Given the description of an element on the screen output the (x, y) to click on. 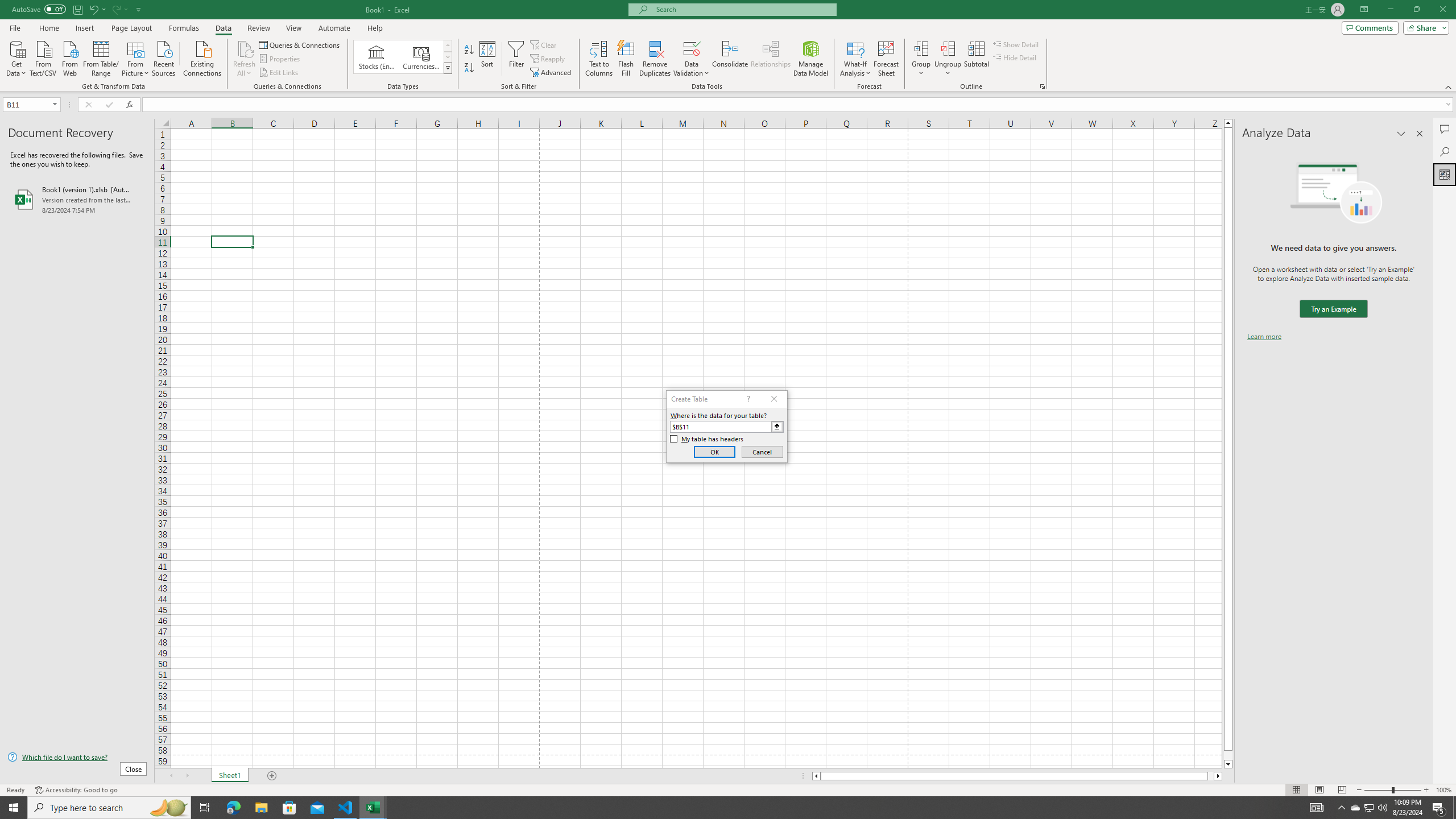
Reapply (548, 58)
Class: MsoCommandBar (728, 45)
Page Layout (1318, 790)
Review (258, 28)
From Web (69, 57)
Quick Access Toolbar (77, 9)
Group and Outline Settings (1042, 85)
Clear (544, 44)
Existing Connections (202, 57)
Get Data (16, 57)
Book1 (version 1).xlsb  [AutoRecovered] (77, 199)
Refresh All (244, 58)
Edit Links (279, 72)
Scroll Right (187, 775)
Recent Sources (163, 57)
